Given the description of an element on the screen output the (x, y) to click on. 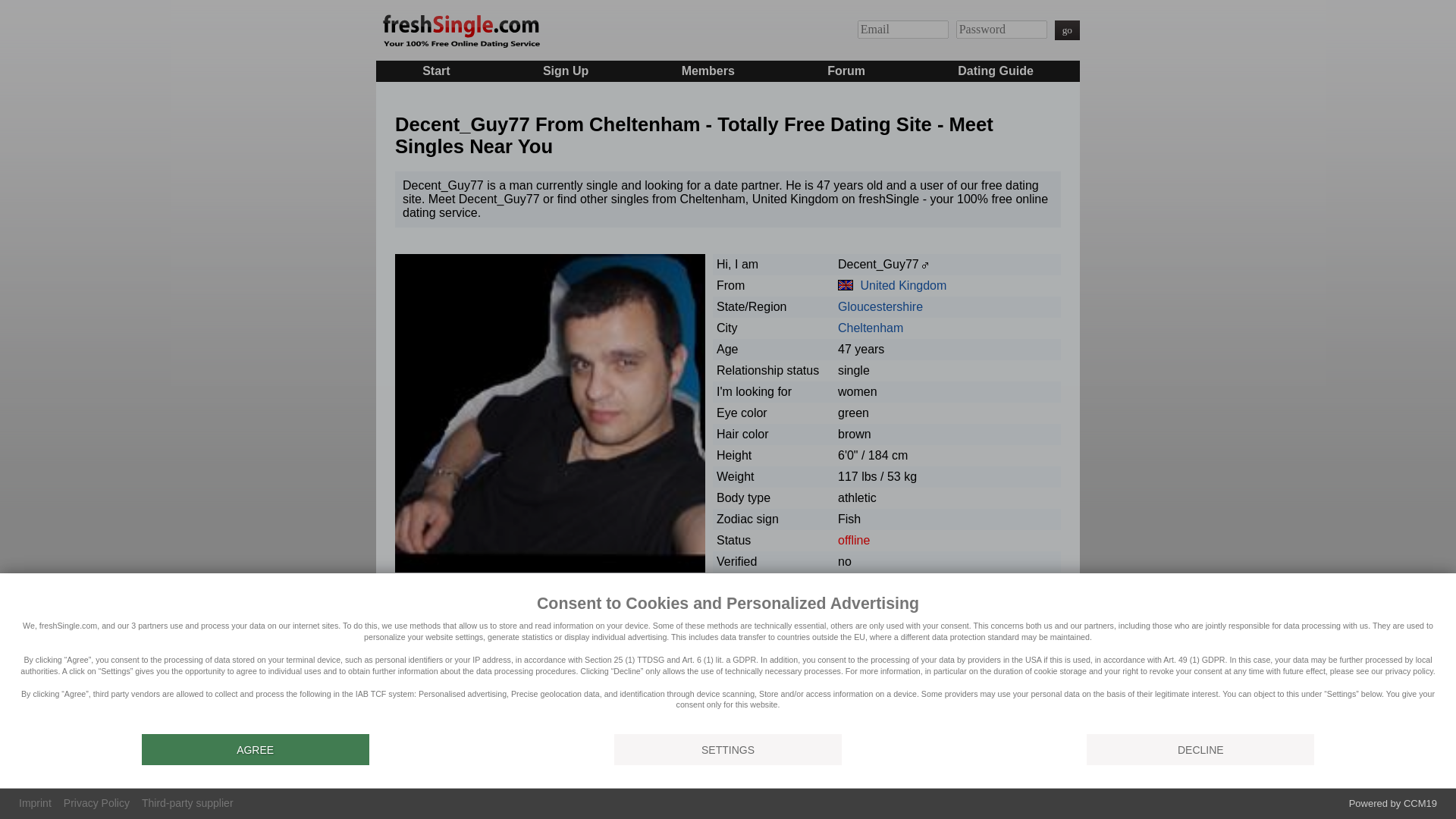
Cheltenham (870, 327)
United Kingdom (903, 285)
go (1067, 30)
Sign Up (565, 70)
Members (708, 70)
go (1067, 30)
Free Online Dating Gloucestershire (880, 306)
United Kingdom (845, 285)
Gloucestershire (880, 306)
Start (435, 70)
Forum (845, 70)
Free Online Dating United Kingdom (903, 285)
Dating Guide (995, 70)
freshSingle - Free Online Dating (459, 28)
Sign In (1067, 30)
